Given the description of an element on the screen output the (x, y) to click on. 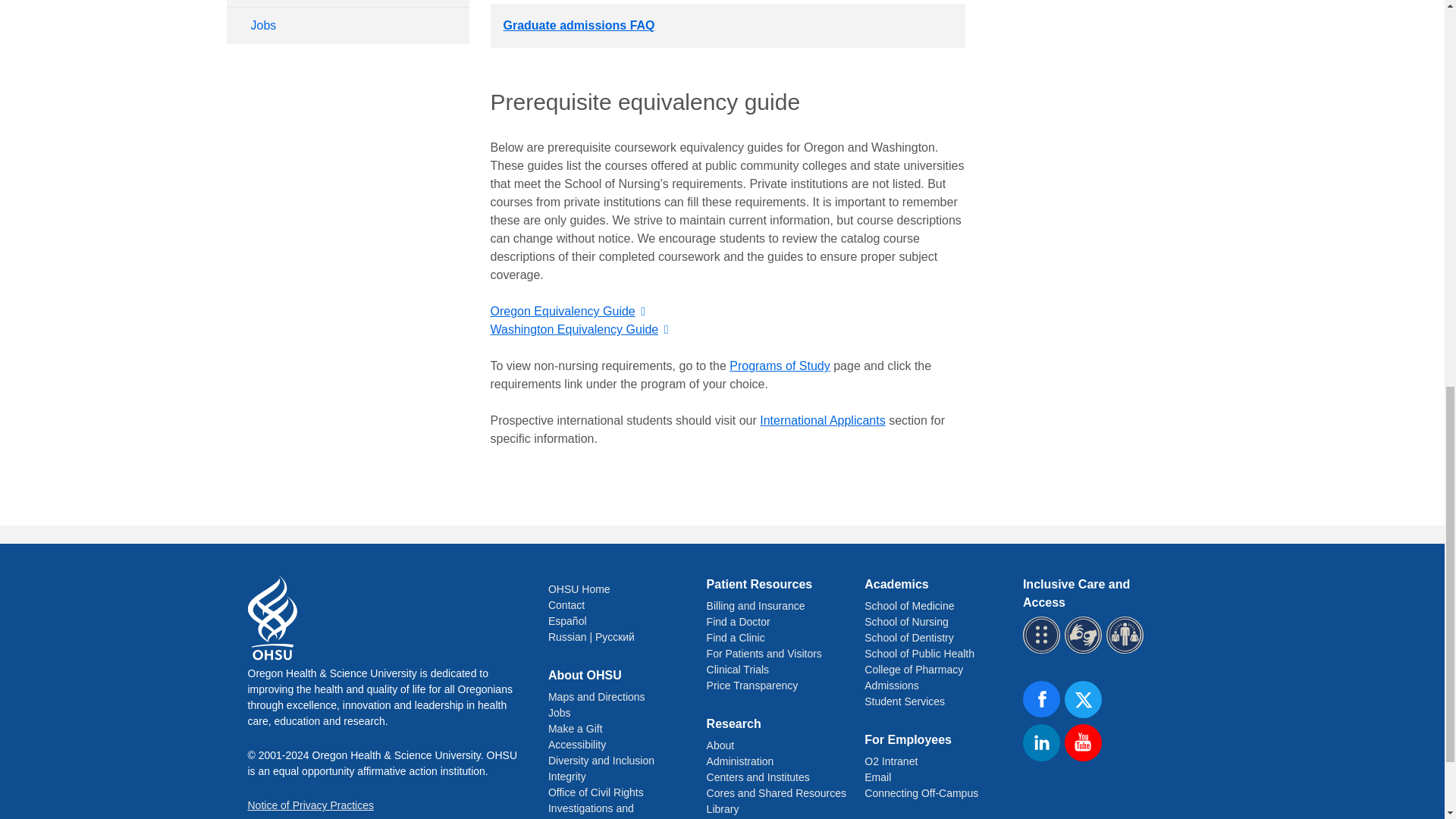
OHSU flame logo in white (272, 617)
